Given the description of an element on the screen output the (x, y) to click on. 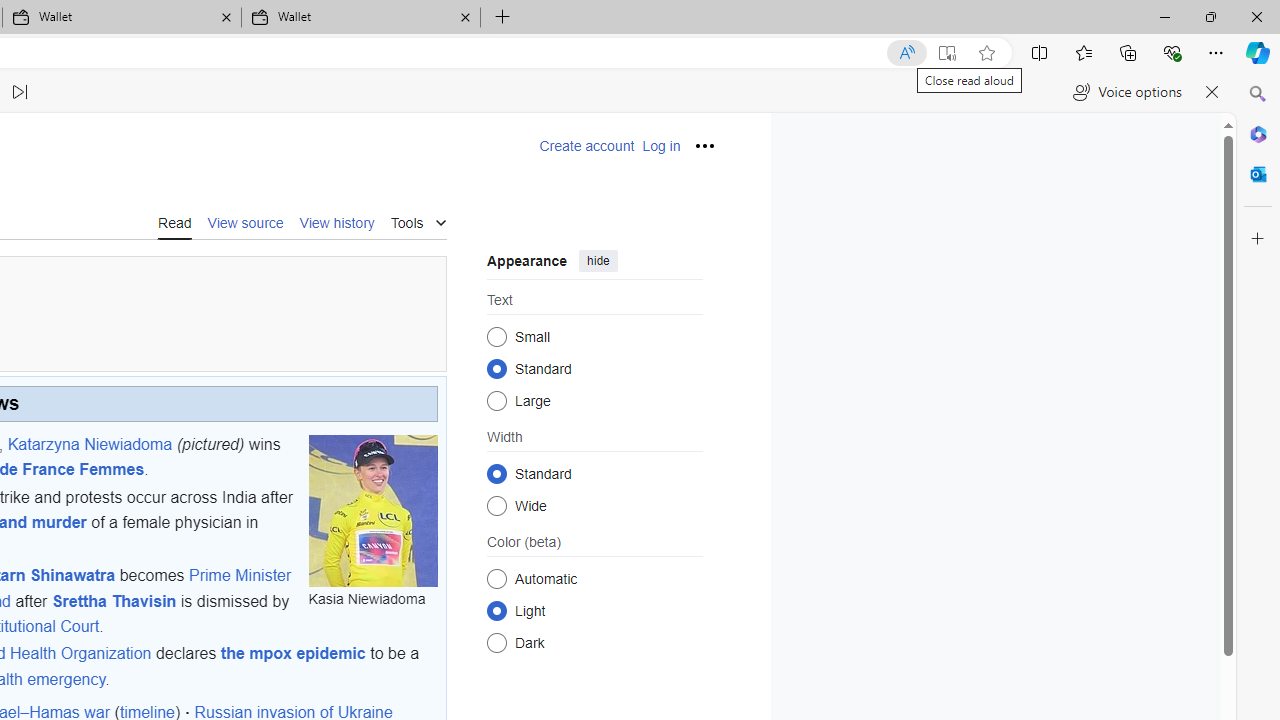
Voice options (1127, 92)
Read next paragraph (19, 92)
Small (496, 336)
Kasia Niewiadoma (372, 510)
Close read aloud (1211, 92)
hide (598, 260)
Wide (496, 505)
Standard (496, 472)
